Given the description of an element on the screen output the (x, y) to click on. 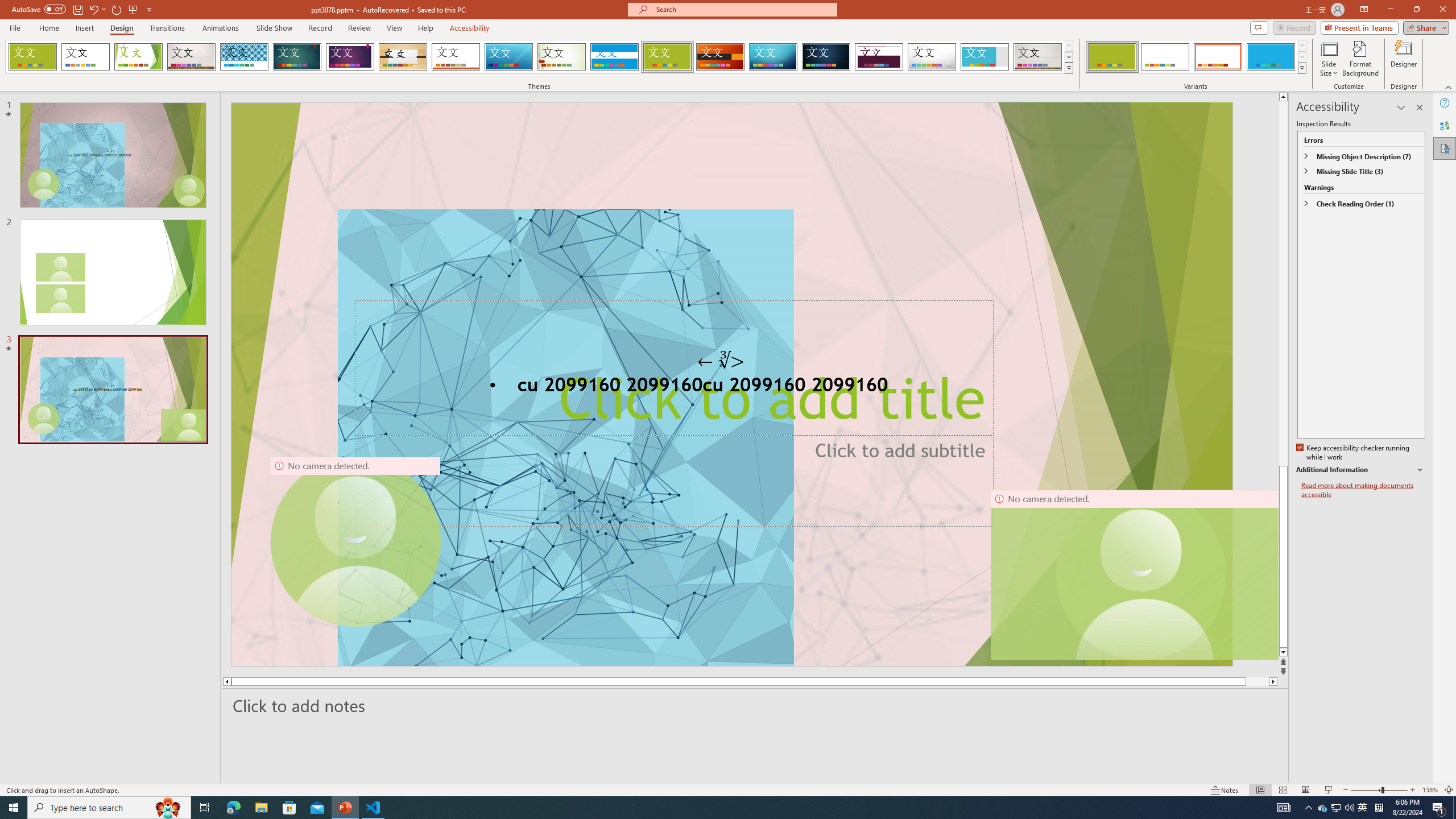
Basis Variant 4 (1270, 56)
Basis Variant 1 (1112, 56)
Wisp (561, 56)
Ion (296, 56)
